Given the description of an element on the screen output the (x, y) to click on. 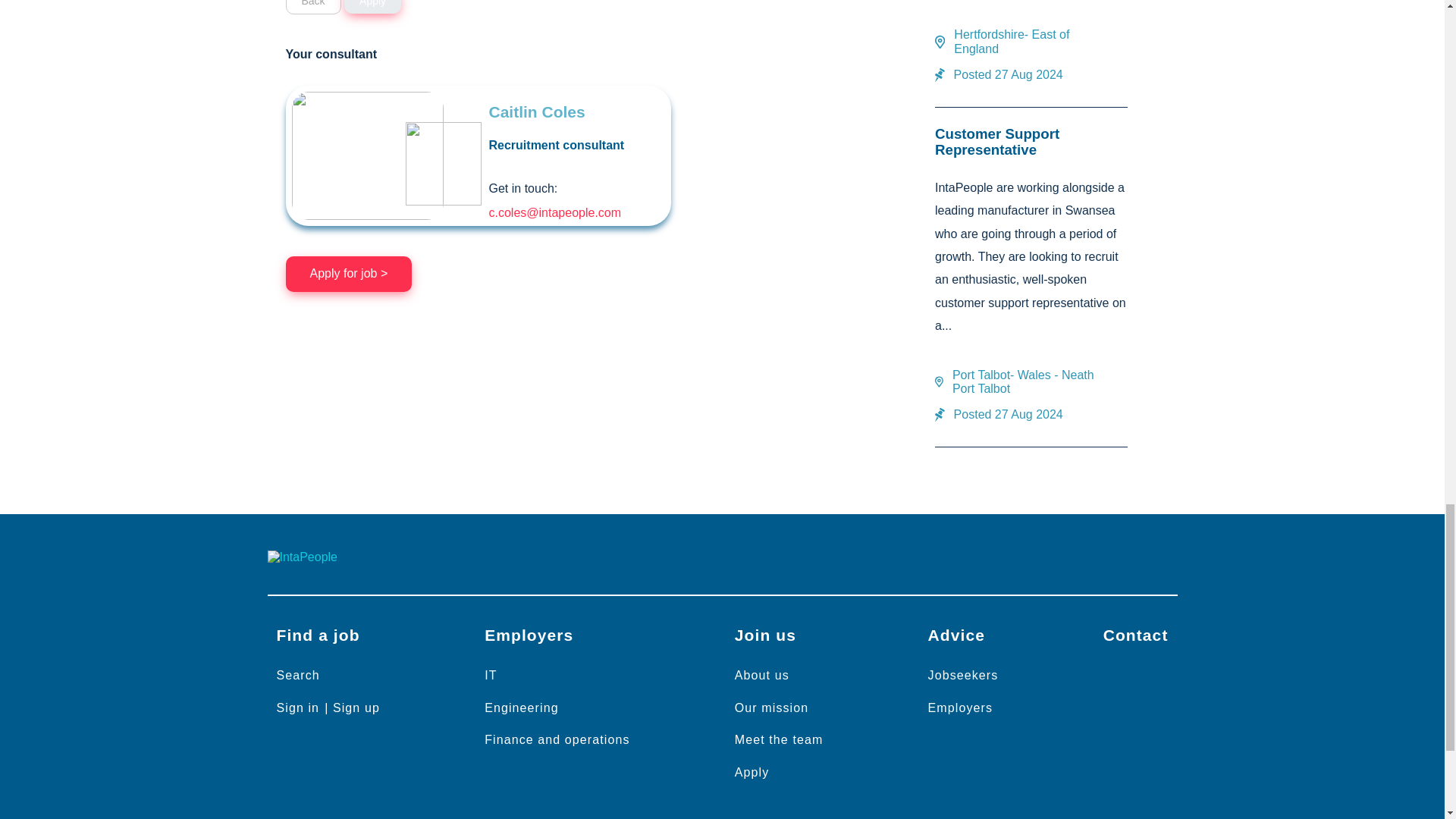
Join us (765, 634)
IT (490, 675)
Apply (372, 6)
Back (312, 7)
About us (761, 675)
Apply (751, 771)
Engineering (521, 707)
Meet the team (778, 739)
Employers (529, 634)
Our mission (770, 707)
